Given the description of an element on the screen output the (x, y) to click on. 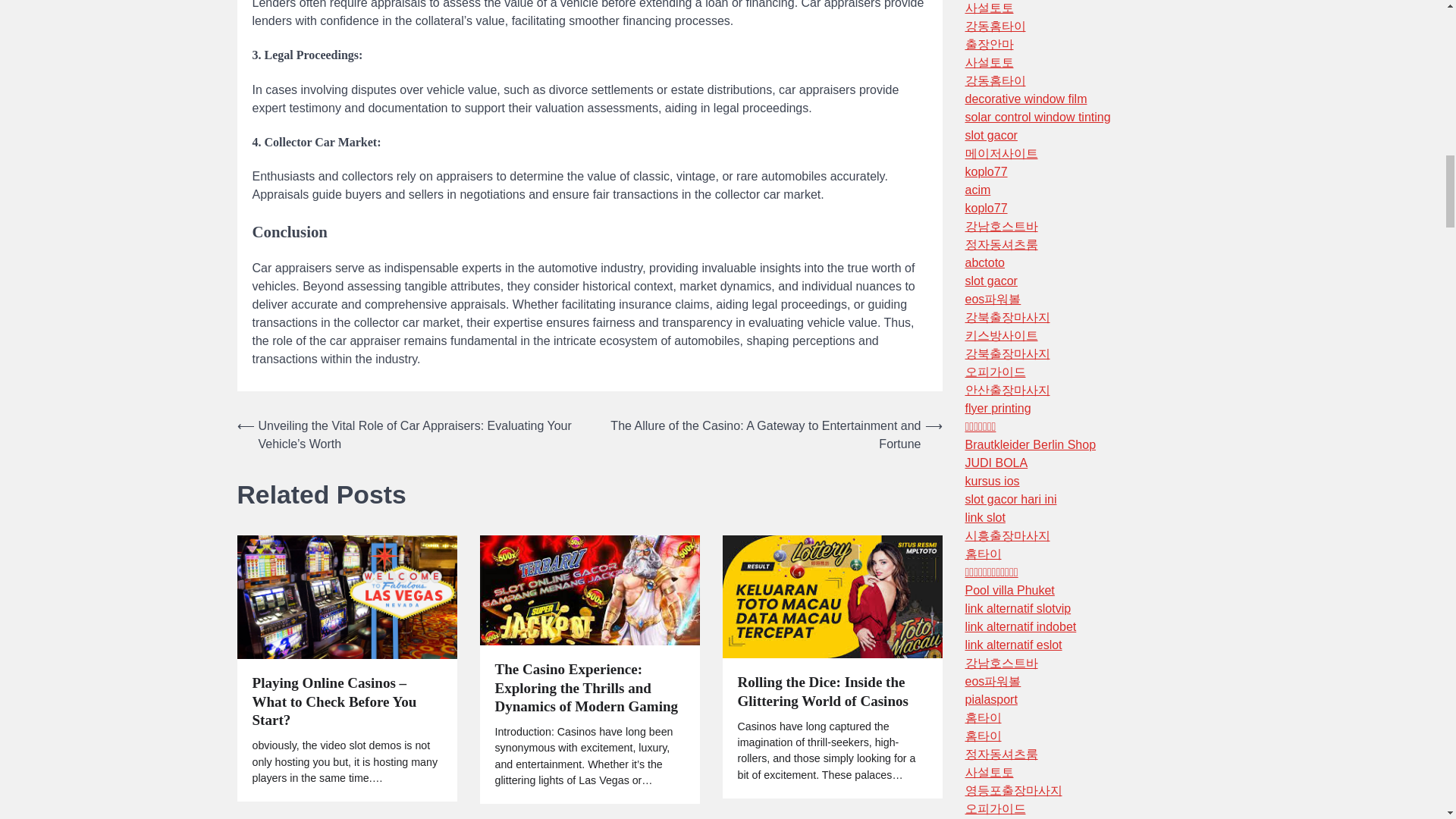
Rolling the Dice: Inside the Glittering World of Casinos (831, 692)
